Given the description of an element on the screen output the (x, y) to click on. 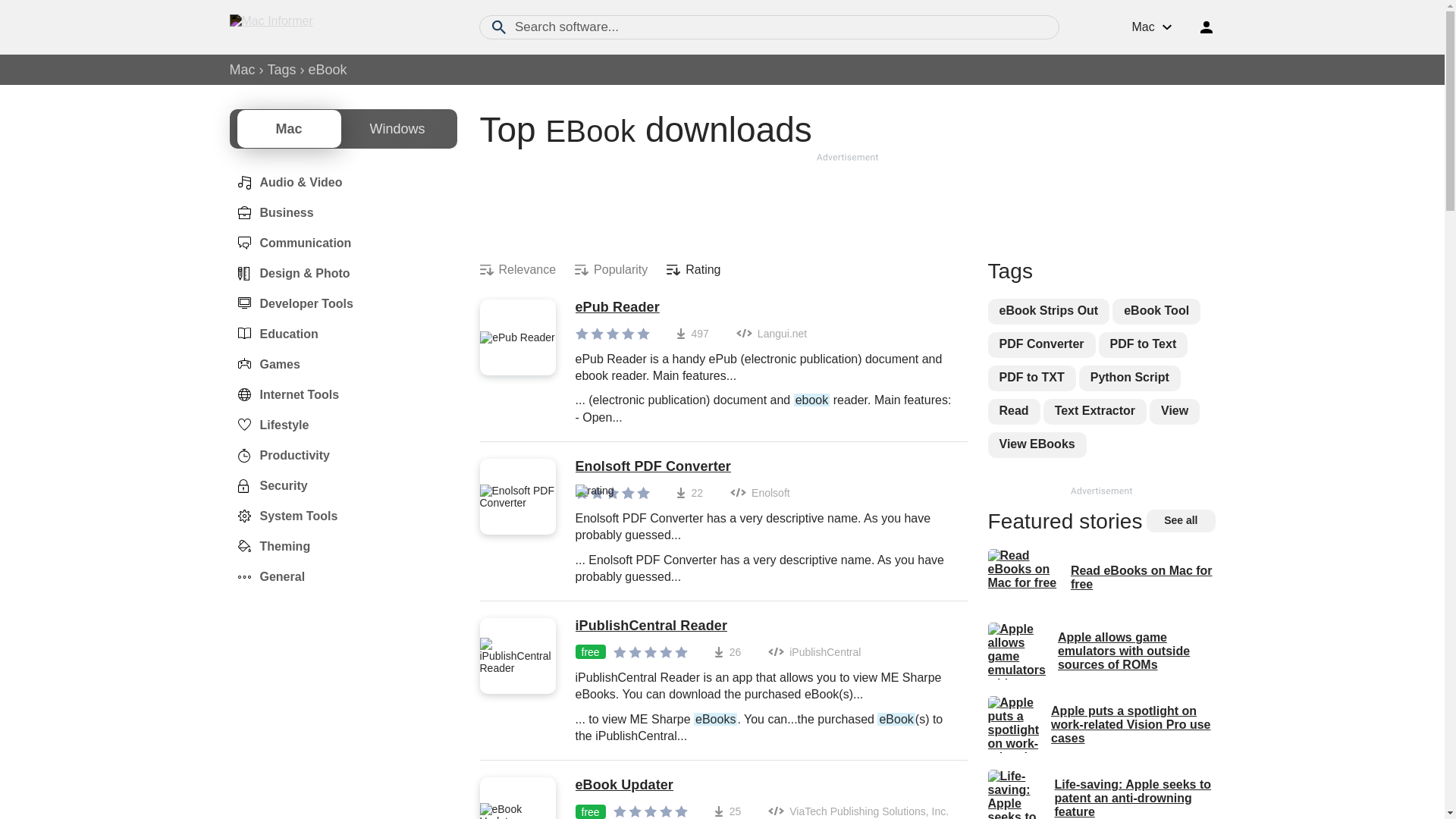
Productivity (278, 455)
ePub Reader (763, 307)
Education (272, 334)
Games (263, 364)
Rating (693, 269)
iPublishCentral Reader (763, 626)
Enolsoft PDF Converter (763, 466)
eBook Updater (763, 785)
Business (270, 213)
Search (498, 27)
Rating (693, 269)
Software downloads and reviews (312, 26)
Mac (241, 69)
General (266, 576)
